Given the description of an element on the screen output the (x, y) to click on. 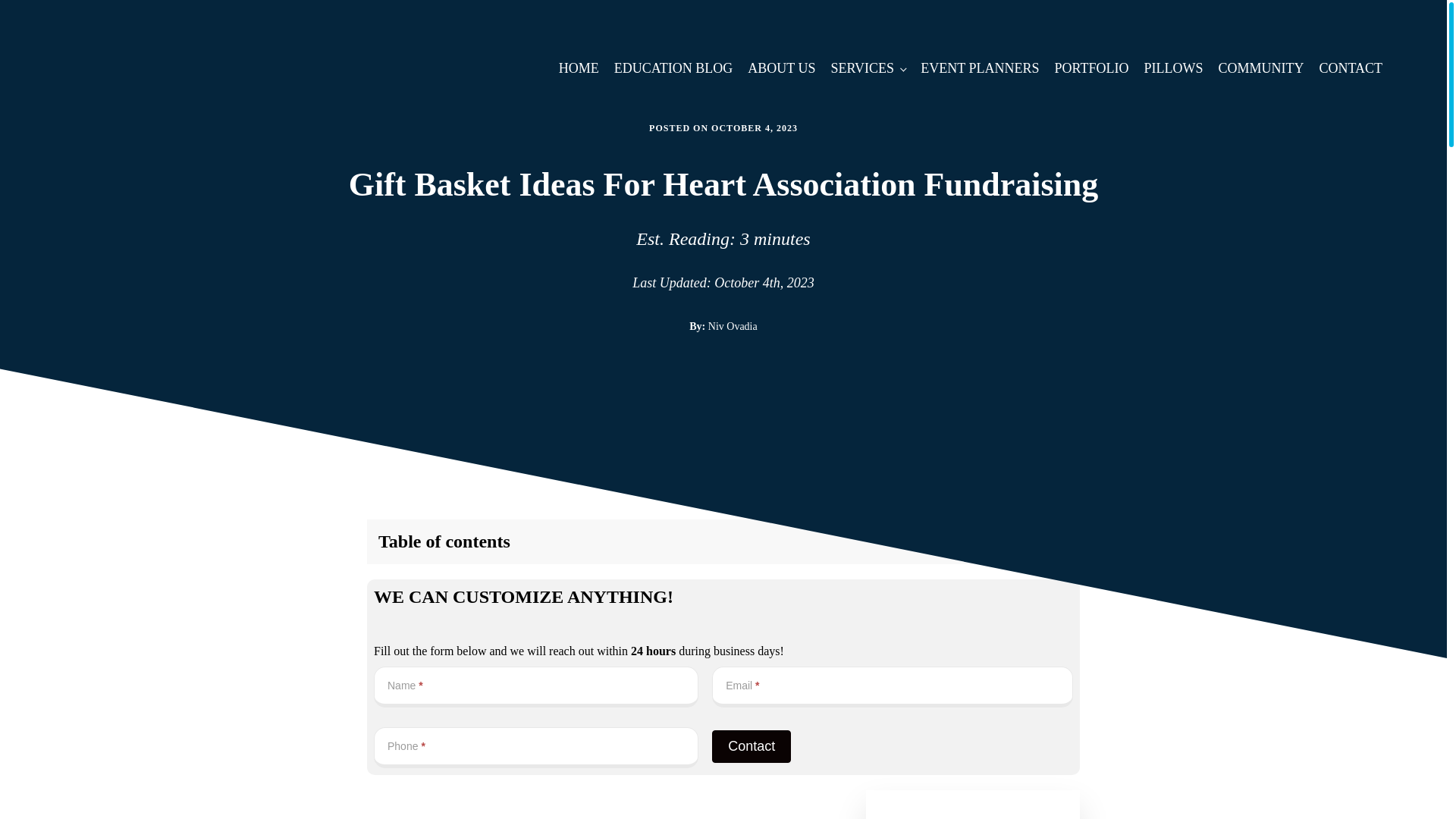
EDUCATION BLOG (674, 68)
ABOUT US (780, 68)
COMMUNITY (1260, 68)
PILLOWS (1172, 68)
HOME (579, 68)
PORTFOLIO (1090, 68)
Contact (750, 746)
CONTACT (1350, 68)
EVENT PLANNERS (979, 68)
SERVICES (867, 68)
